Given the description of an element on the screen output the (x, y) to click on. 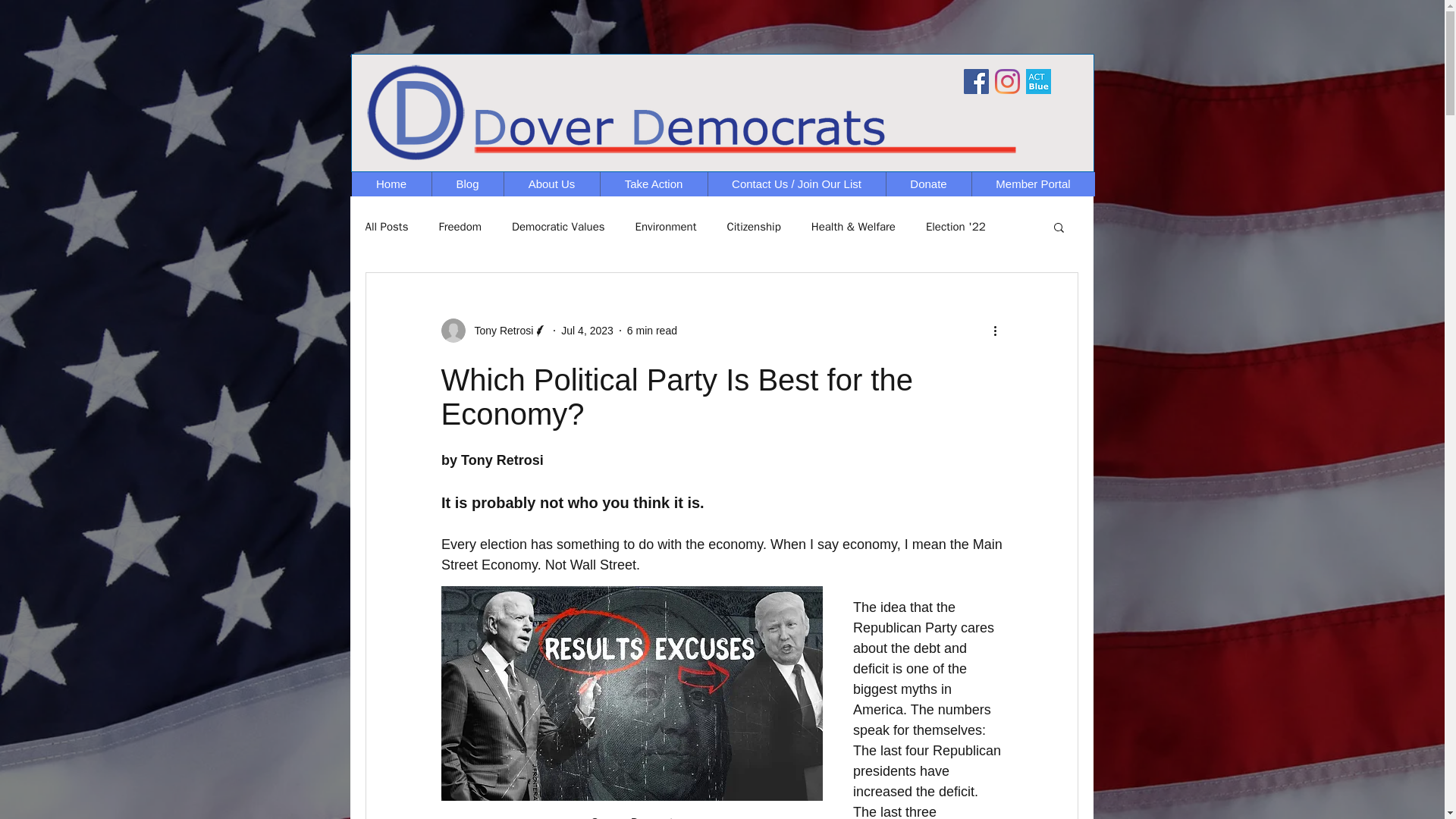
Jul 4, 2023 (586, 330)
Tony Retrosi (499, 330)
Member Portal (1032, 183)
6 min read (652, 330)
Home (391, 183)
Take Action (652, 183)
Freedom (459, 227)
Blog (466, 183)
All Posts (387, 227)
Election '22 (955, 227)
